Given the description of an element on the screen output the (x, y) to click on. 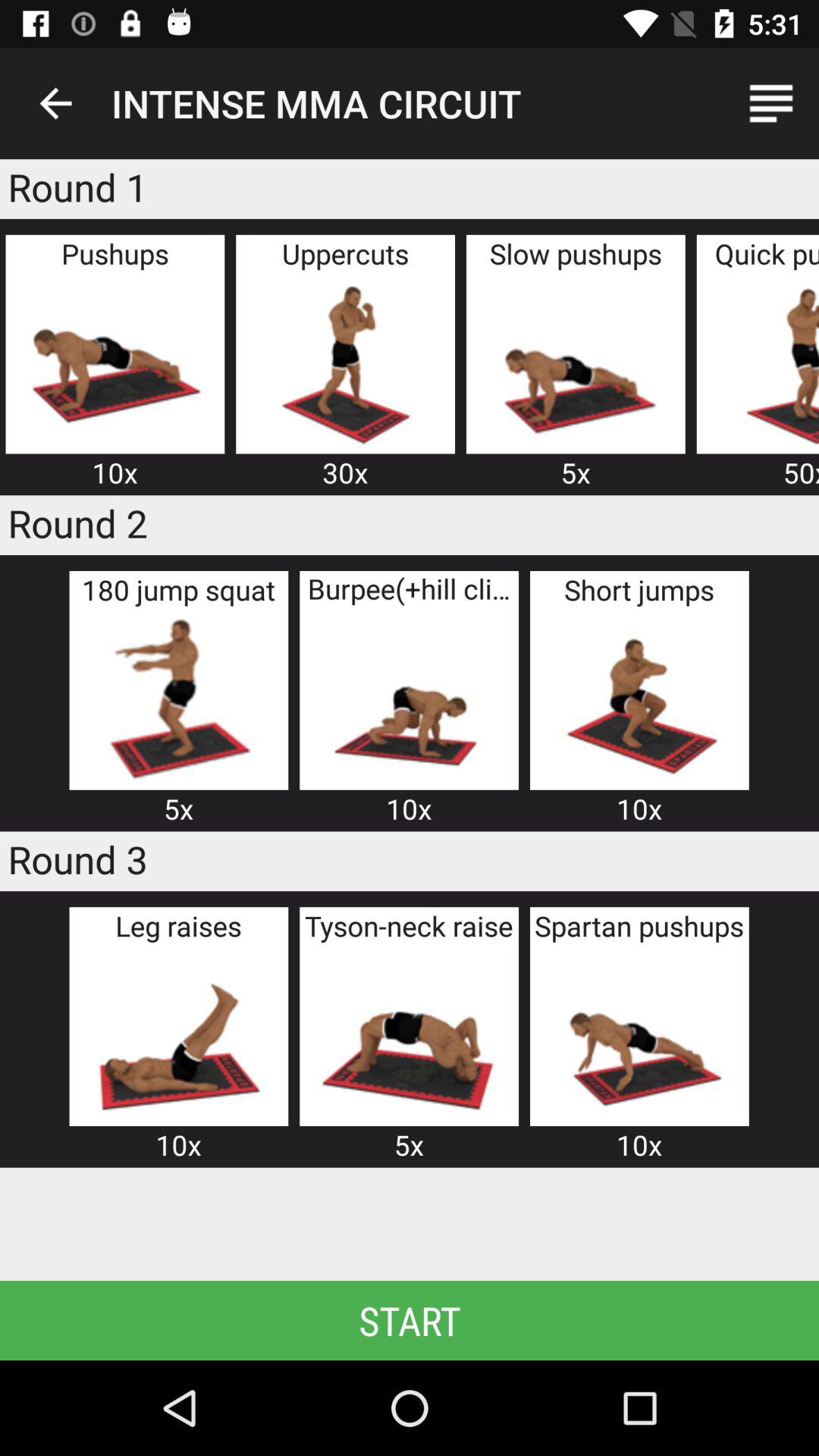
mma curcuit round 5k (408, 1034)
